Given the description of an element on the screen output the (x, y) to click on. 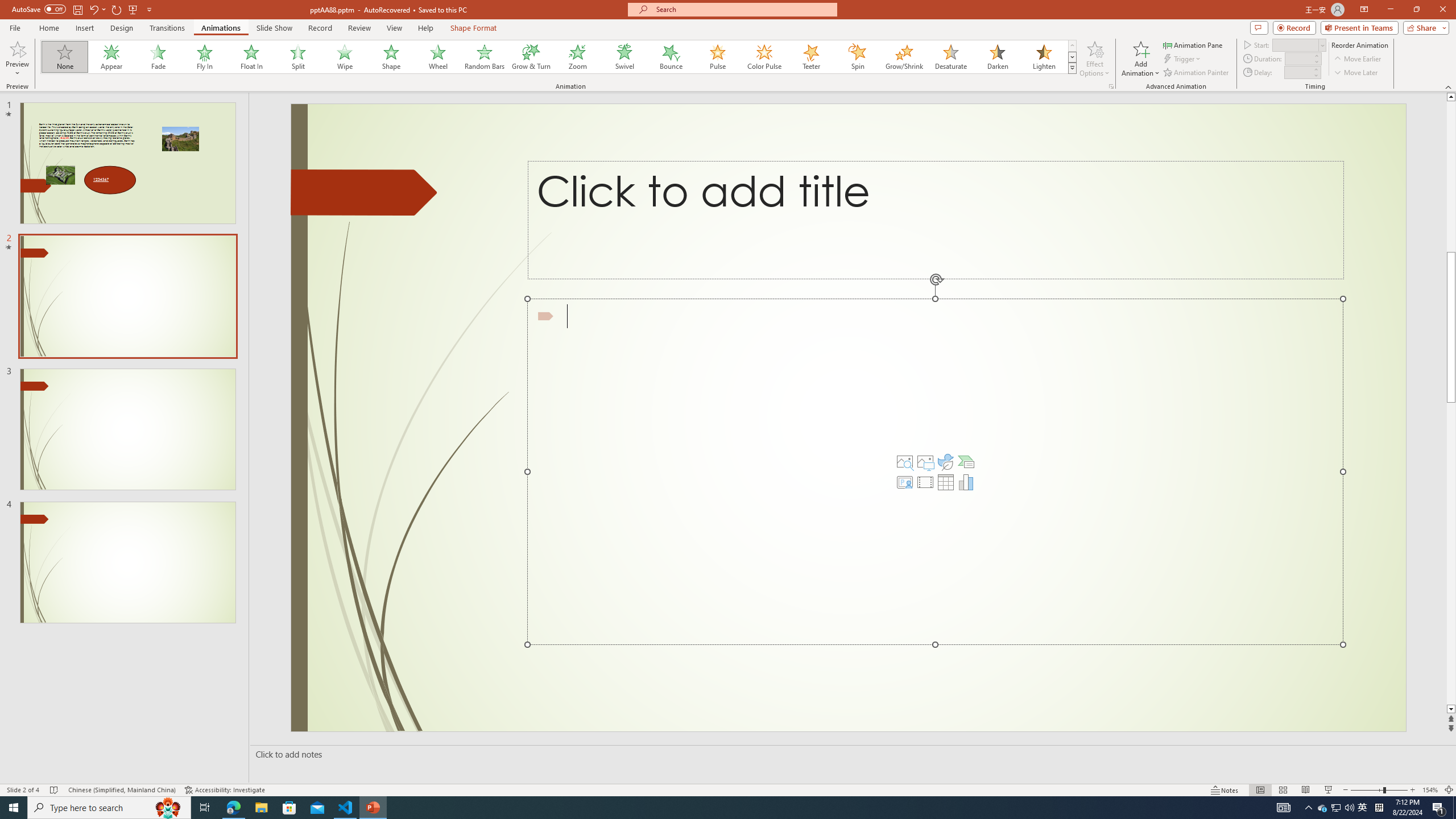
Grow/Shrink (903, 56)
Darken (997, 56)
Trigger (1182, 58)
Spin (857, 56)
Animation Pane (1193, 44)
Teeter (810, 56)
